Given the description of an element on the screen output the (x, y) to click on. 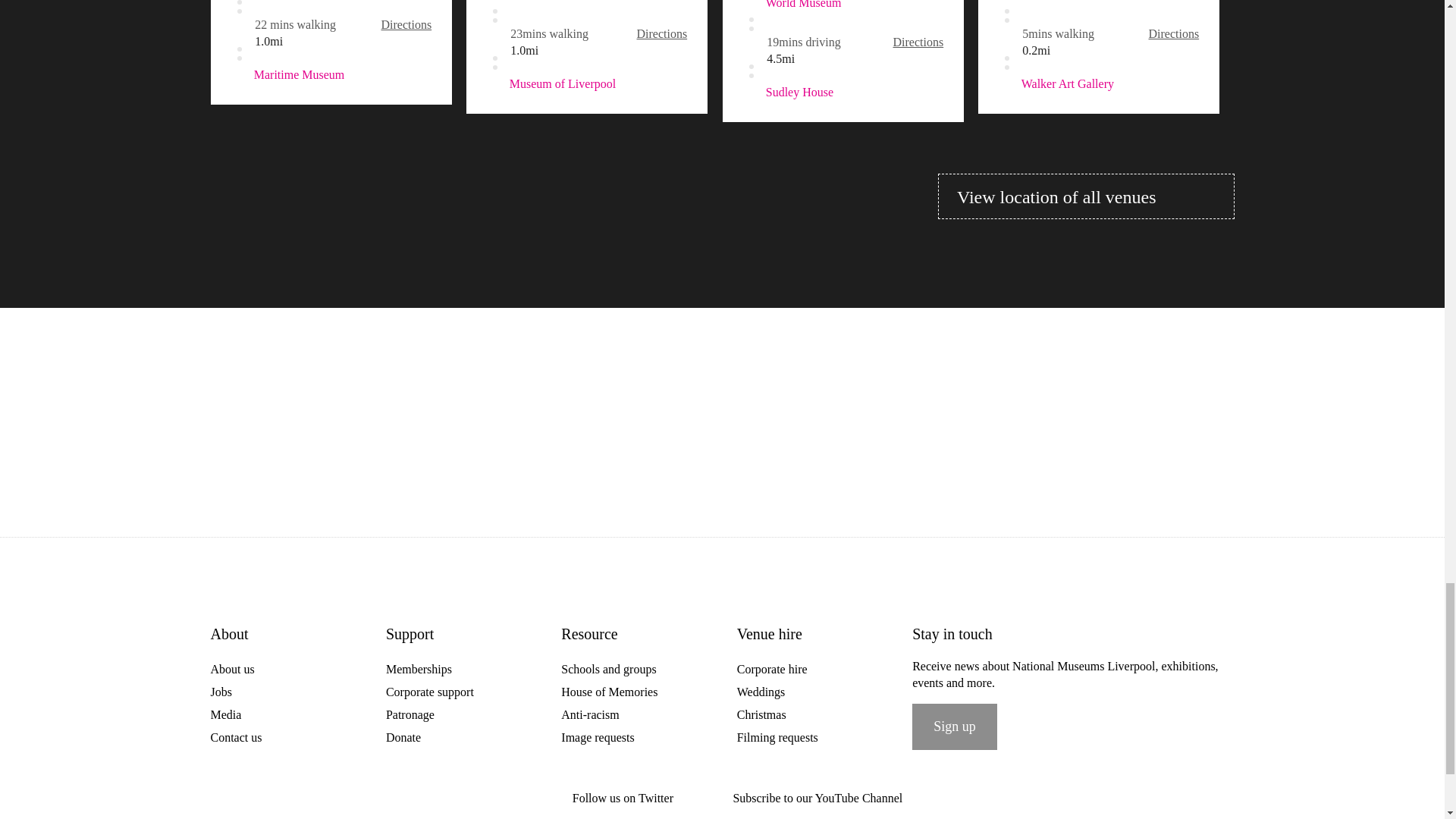
Directions (405, 24)
Museum of Liverpool (586, 84)
Maritime Museum (330, 75)
Directions (662, 33)
World Museum (494, 2)
World Museum (1005, 2)
Directions (917, 42)
World Museum (750, 6)
